Given the description of an element on the screen output the (x, y) to click on. 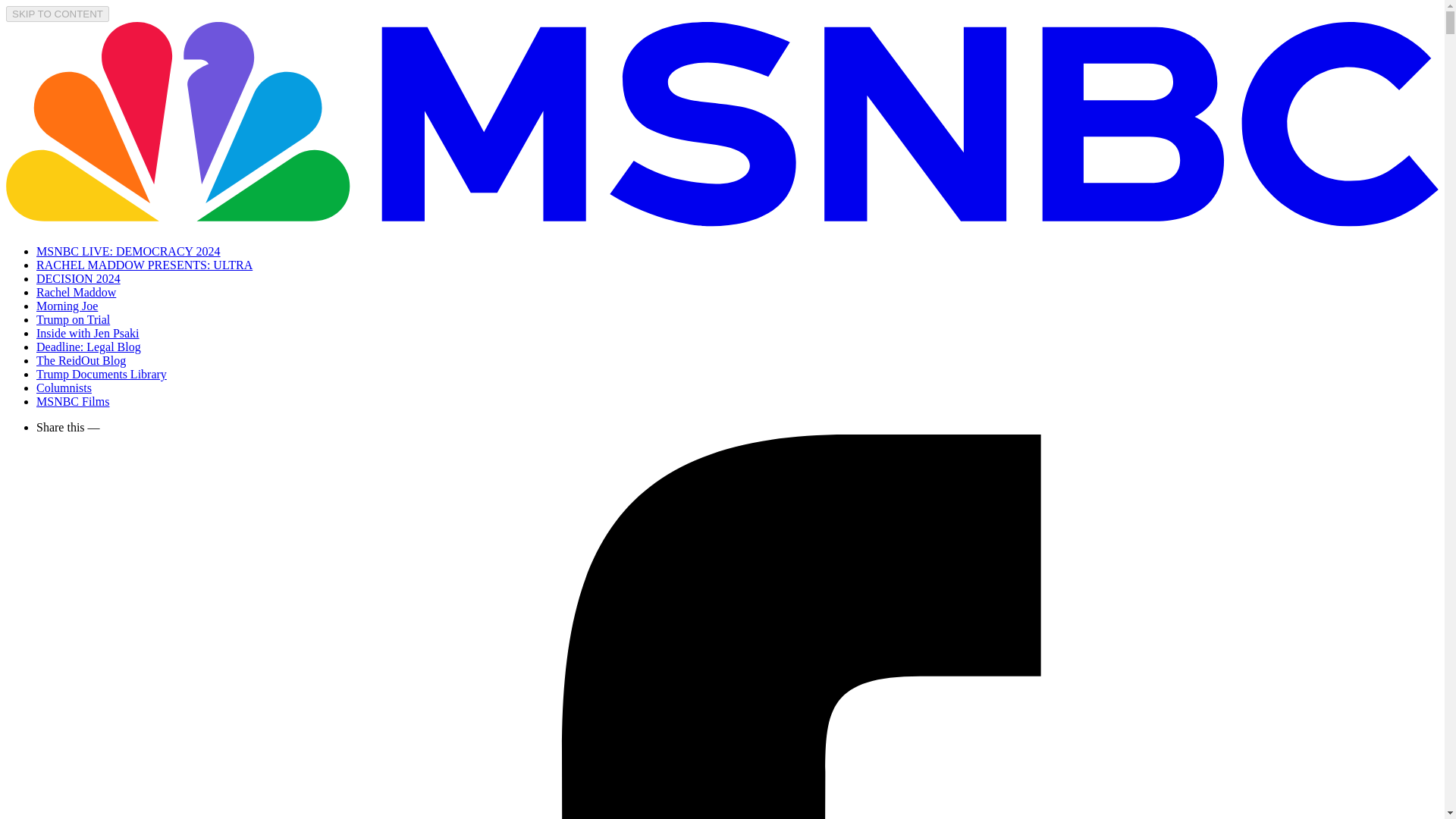
Inside with Jen Psaki (87, 332)
Trump Documents Library (101, 373)
SKIP TO CONTENT (57, 13)
The ReidOut Blog (80, 359)
MSNBC LIVE: DEMOCRACY 2024 (128, 250)
DECISION 2024 (78, 278)
Rachel Maddow (76, 291)
Trump on Trial (73, 318)
Columnists (63, 387)
Deadline: Legal Blog (88, 346)
